Given the description of an element on the screen output the (x, y) to click on. 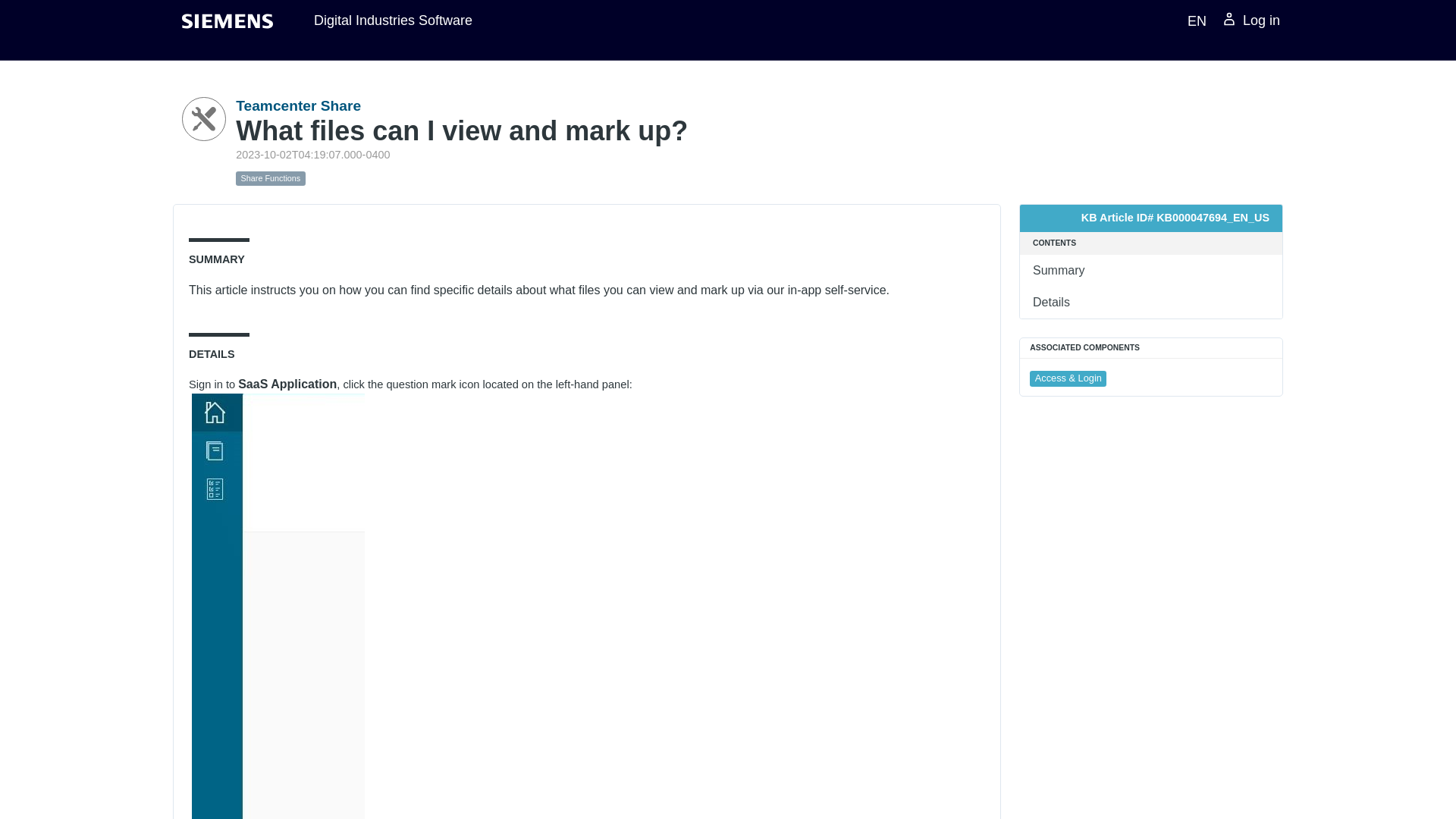
EN (1193, 20)
Log in (1250, 20)
Digital Industries Software (392, 20)
Details (1151, 302)
Summary (1151, 270)
Siemens (227, 20)
